Given the description of an element on the screen output the (x, y) to click on. 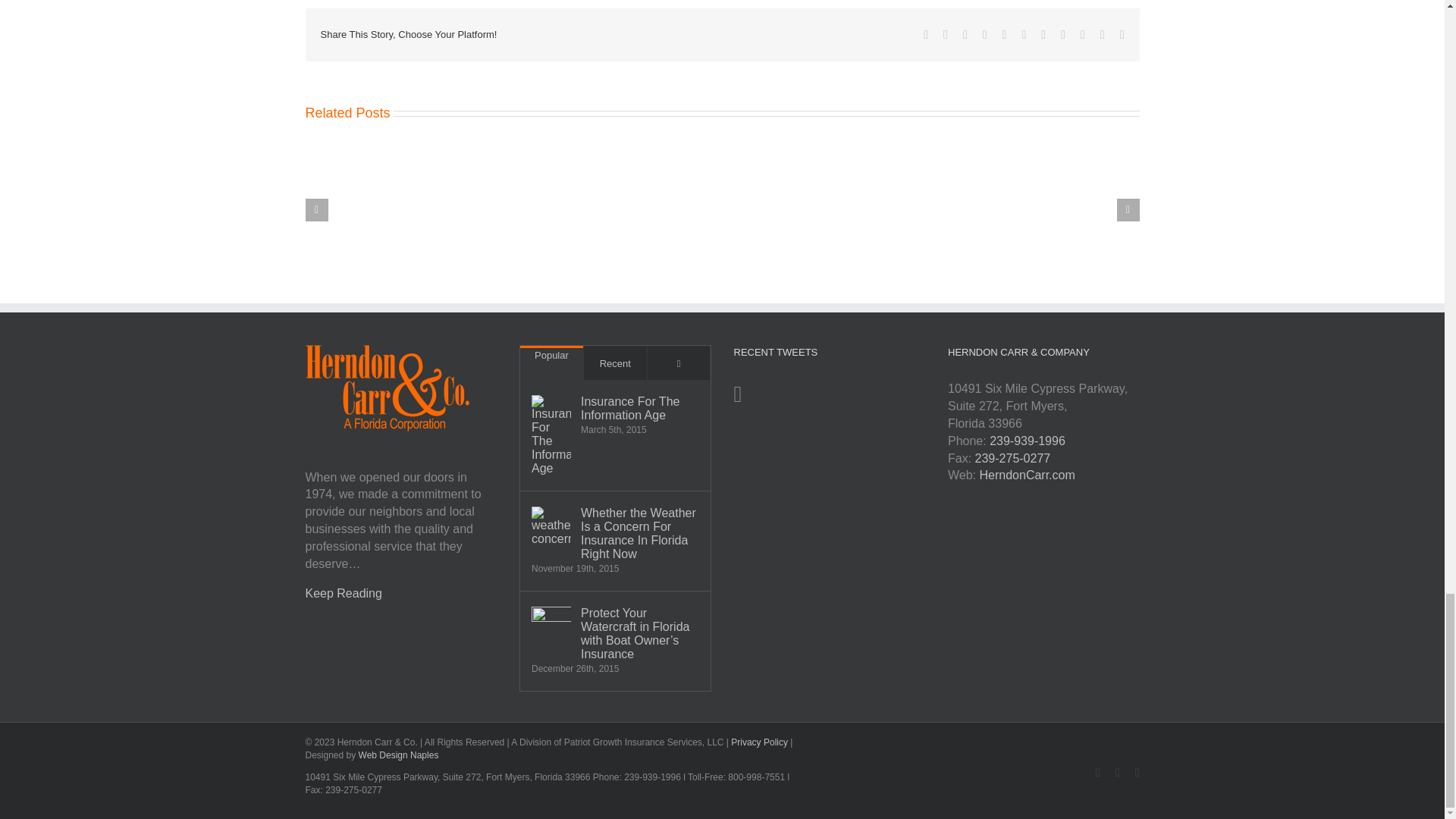
About Us (342, 593)
